Given the description of an element on the screen output the (x, y) to click on. 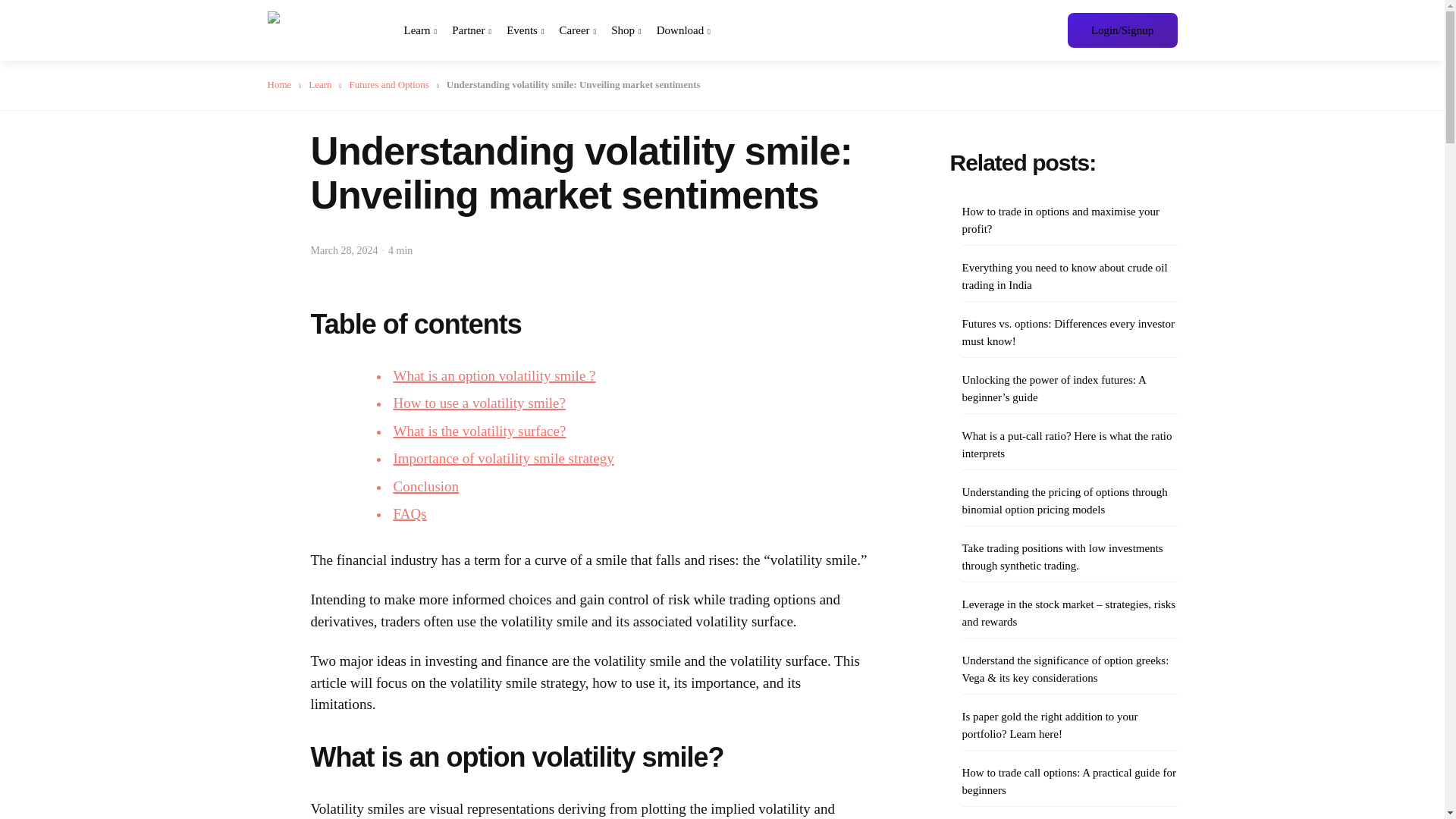
Futures vs. options: Differences every investor must know! (1068, 332)
How to trade in options and maximise your profit? (1068, 219)
Learn (324, 84)
Download (683, 30)
How to trade call options: A practical guide for beginners (1068, 780)
Shop (626, 30)
